Given the description of an element on the screen output the (x, y) to click on. 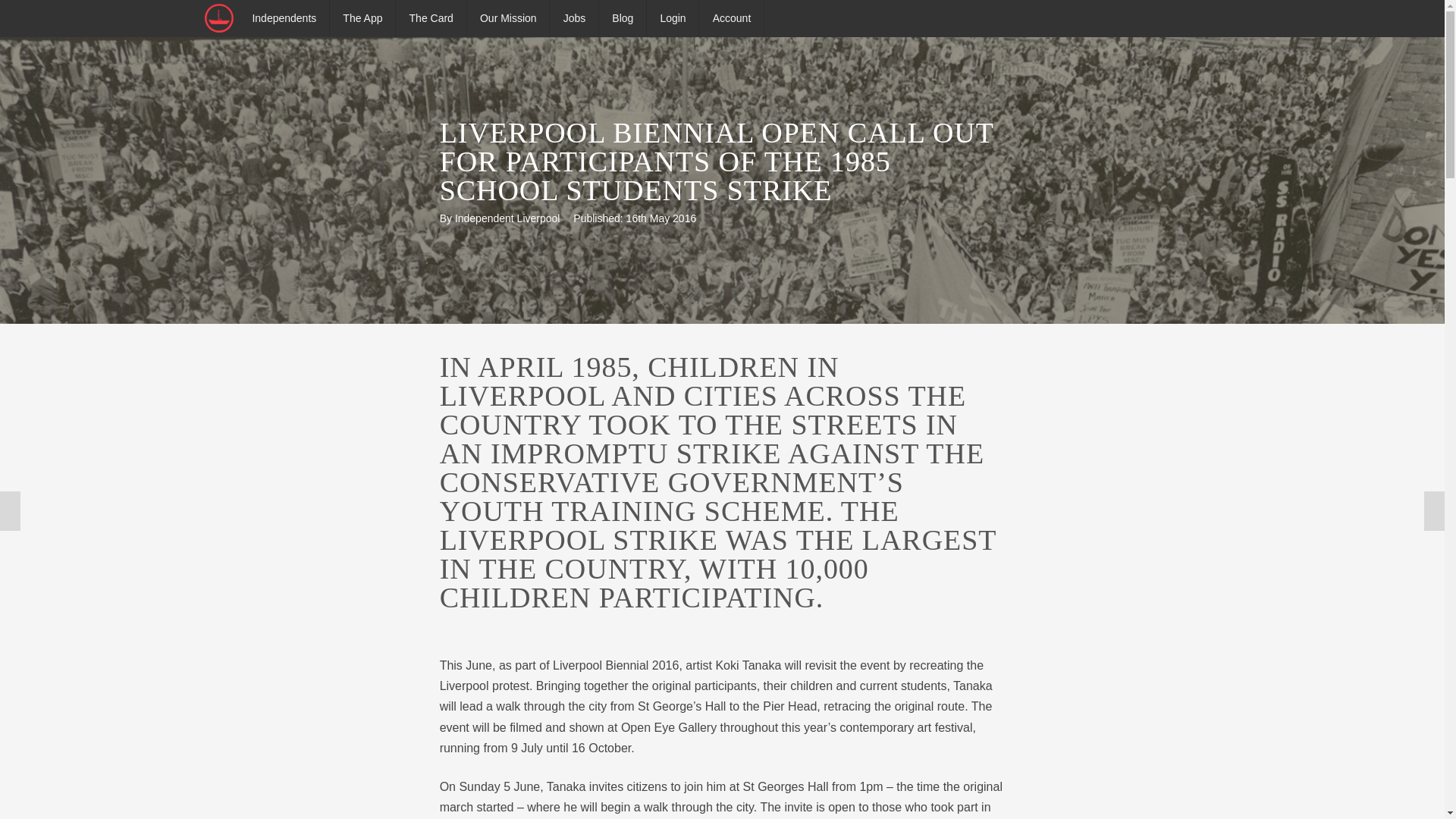
Our Mission (508, 18)
Independents (285, 18)
Jobs (574, 18)
The App (363, 18)
Account (732, 18)
Blog (623, 18)
The Card (431, 18)
Login (673, 18)
